Given the description of an element on the screen output the (x, y) to click on. 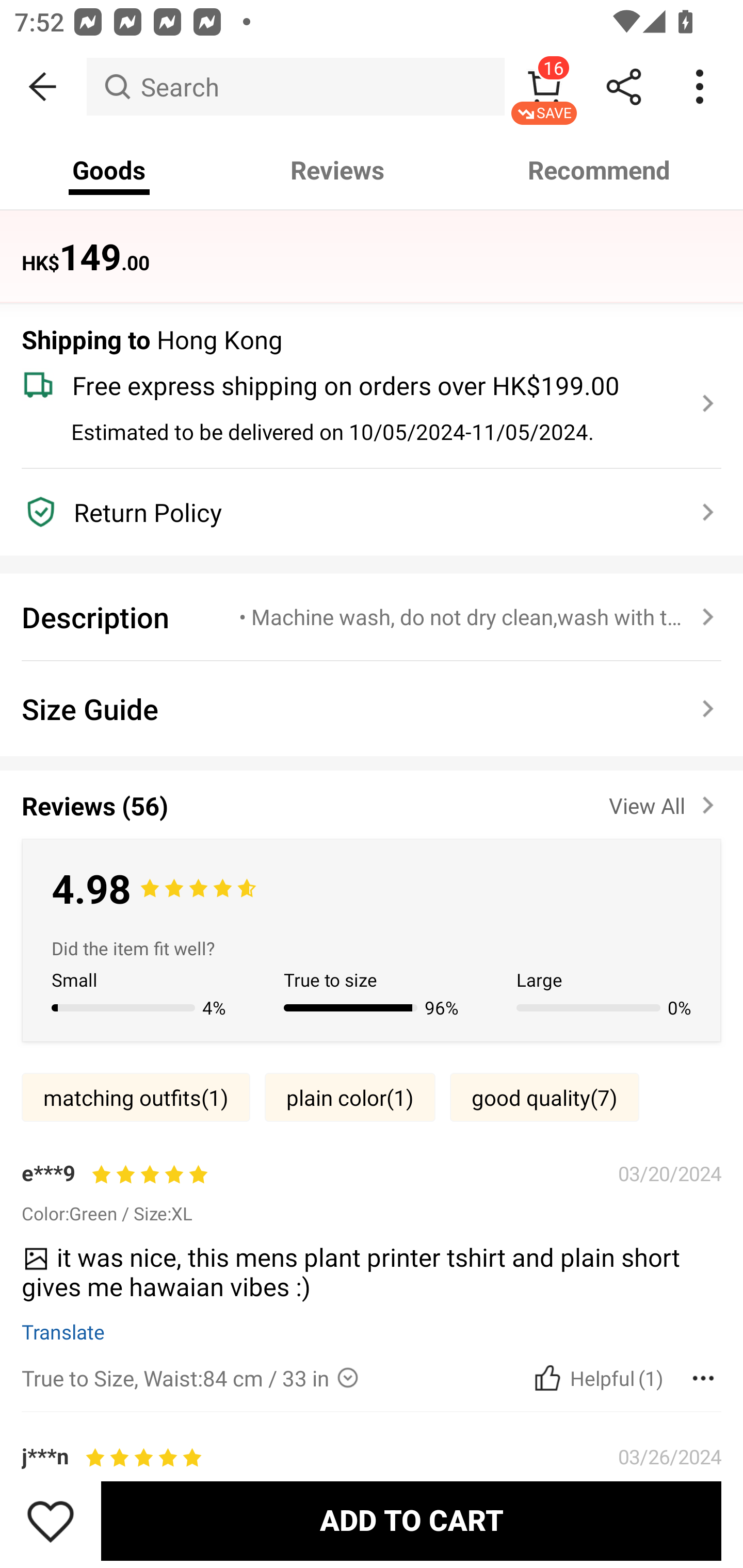
BACK (43, 86)
16 SAVE (543, 87)
Search (295, 87)
Goods (109, 170)
Reviews (337, 170)
Recommend (599, 170)
Return Policy (359, 511)
Size Guide (371, 708)
View All (664, 802)
matching outfits(1) (135, 1096)
plain color(1) (349, 1096)
good quality(7) (544, 1096)
e***9 Rating5.0 03/20/2024 Color:Green / Size:XL (371, 1191)
Translate (62, 1331)
Cancel Helpful Was this article helpful? (1) (596, 1377)
ADD TO CART (411, 1520)
Save (50, 1520)
